Given the description of an element on the screen output the (x, y) to click on. 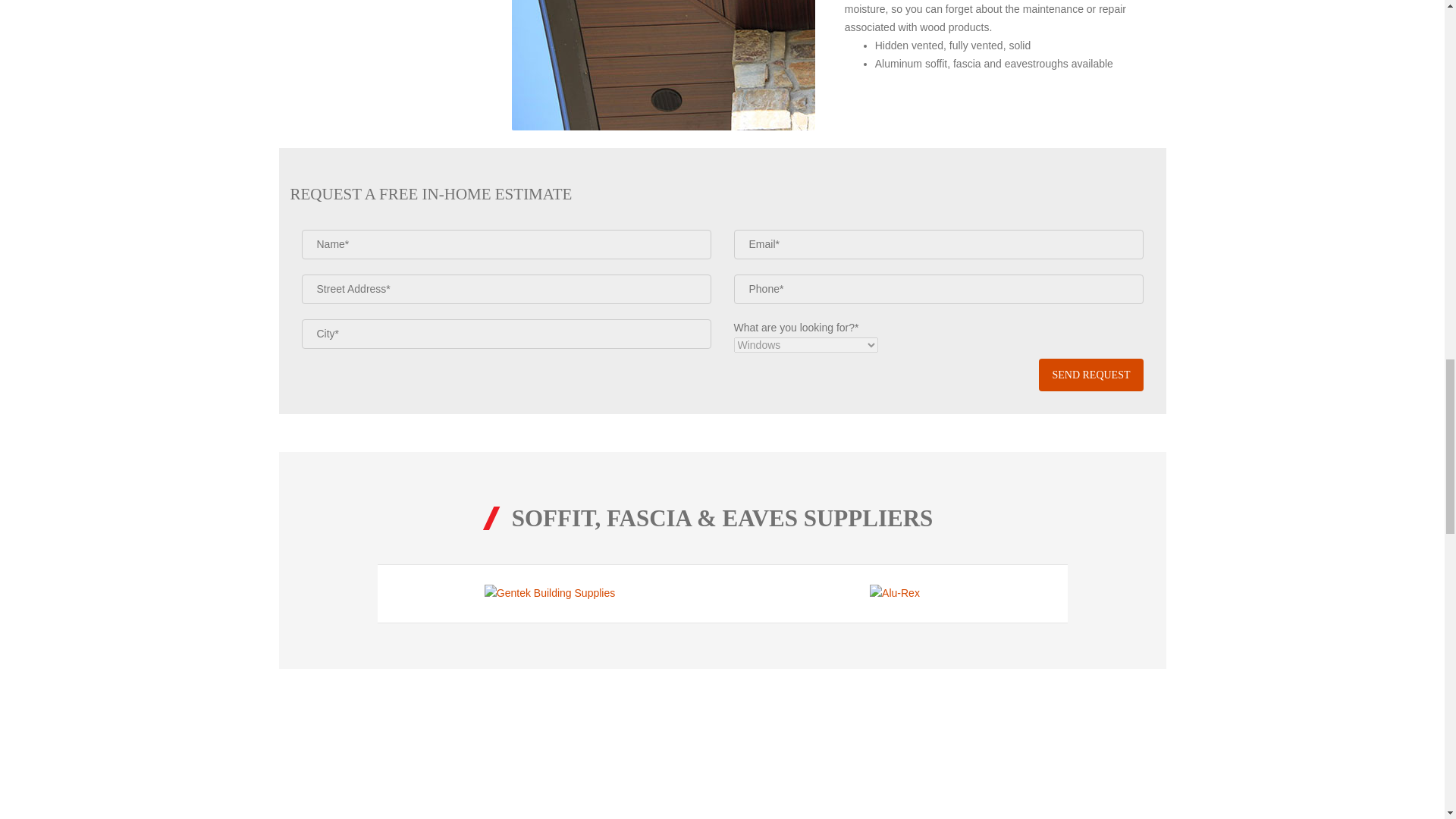
SEND REQUEST (1090, 374)
